Given the description of an element on the screen output the (x, y) to click on. 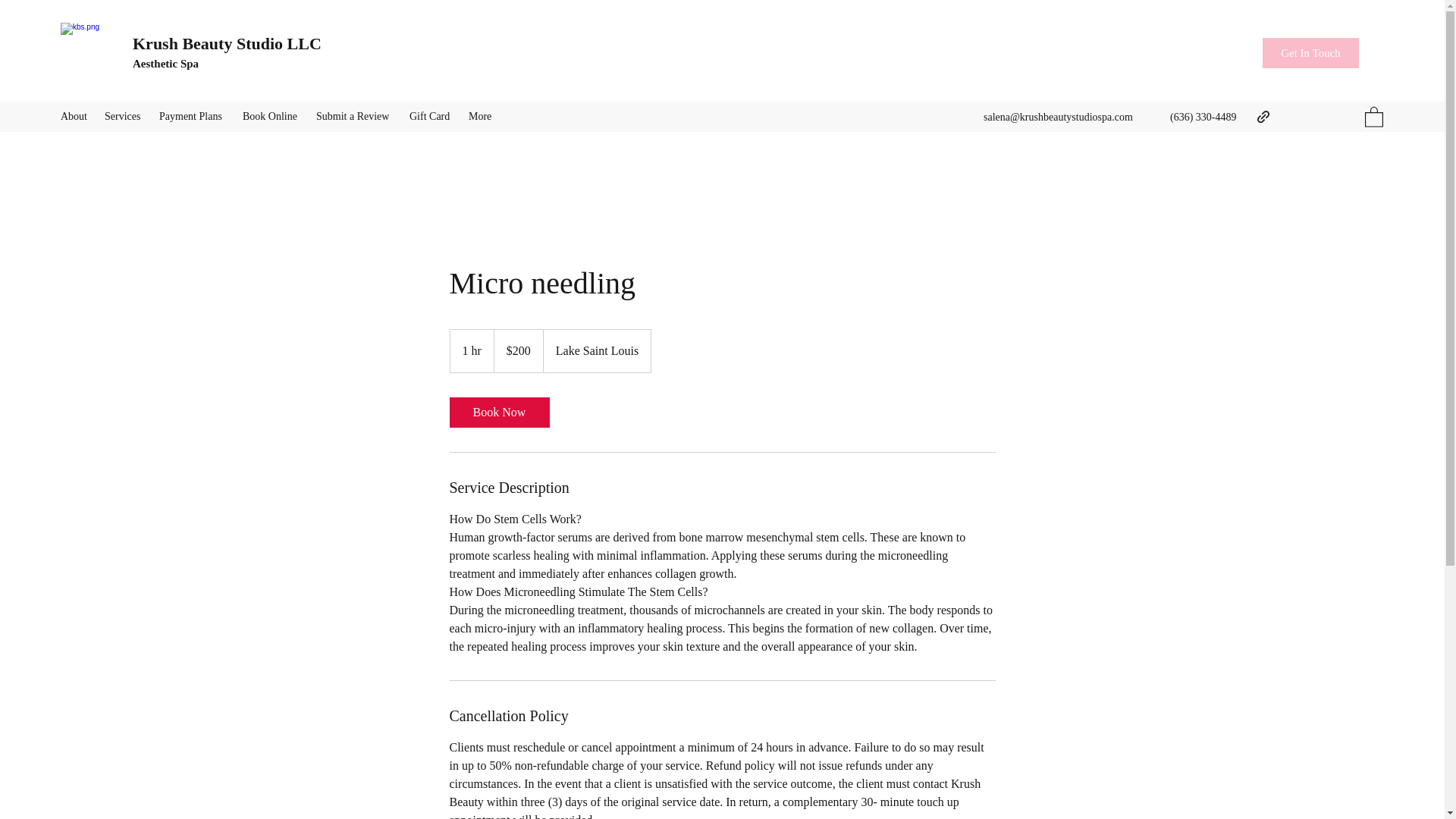
Book Online (271, 116)
Krush Beauty Studio LLC (226, 43)
Submit a Review (354, 116)
Payment Plans (192, 116)
Book Now (498, 412)
Services (124, 116)
Gift Card (431, 116)
About (74, 116)
